Given the description of an element on the screen output the (x, y) to click on. 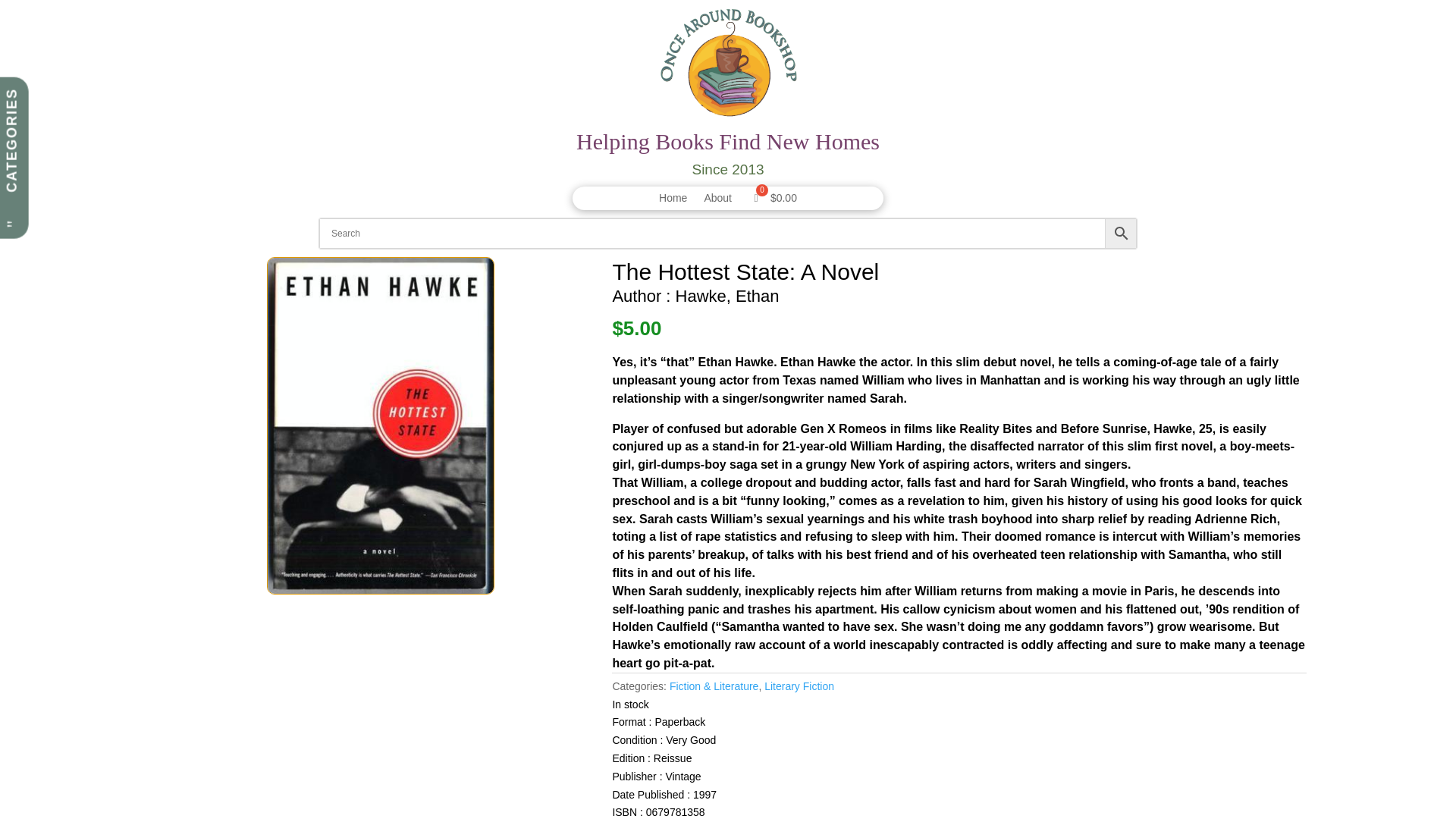
About (717, 200)
Home (673, 200)
logo-1 (727, 65)
